Given the description of an element on the screen output the (x, y) to click on. 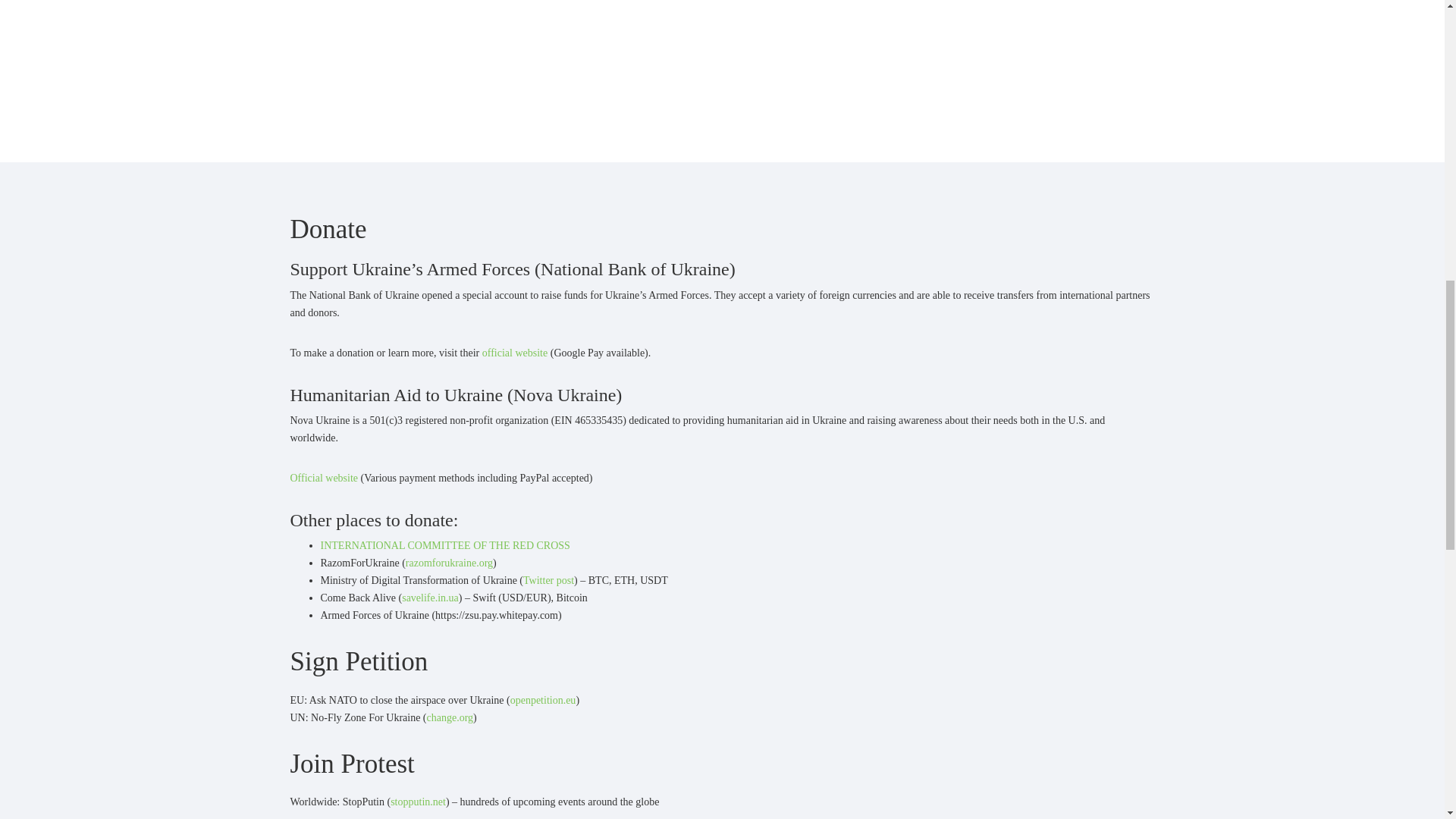
savelife.in.ua (429, 597)
Official website (323, 478)
official website (514, 352)
INTERNATIONAL COMMITTEE OF THE RED CROSS (444, 545)
Twitter post (547, 580)
change.org (450, 717)
razomforukraine.org (449, 562)
openpetition.eu (543, 699)
